Given the description of an element on the screen output the (x, y) to click on. 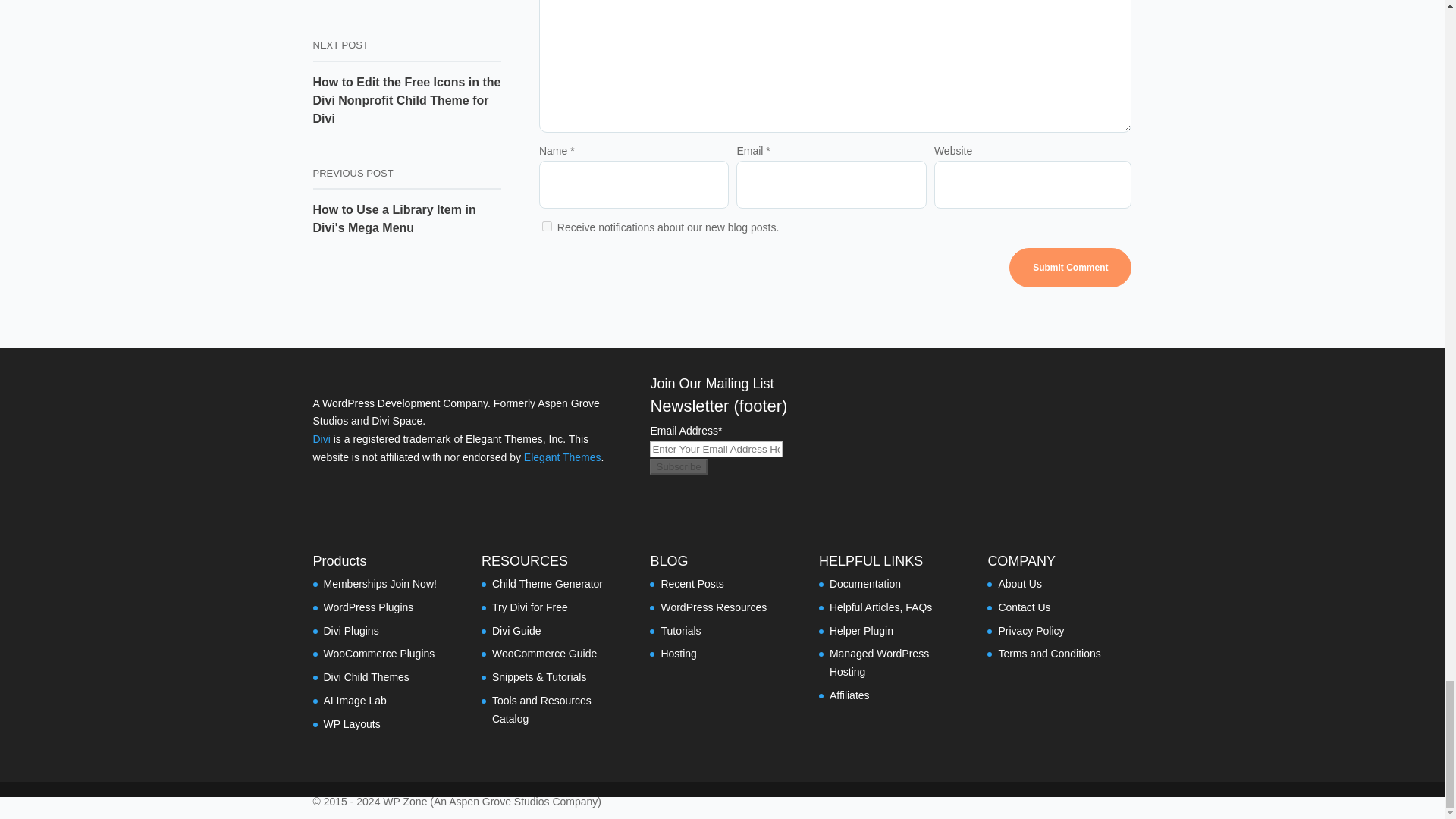
1 (546, 225)
Submit Comment (1070, 266)
Subscribe (677, 466)
